Given the description of an element on the screen output the (x, y) to click on. 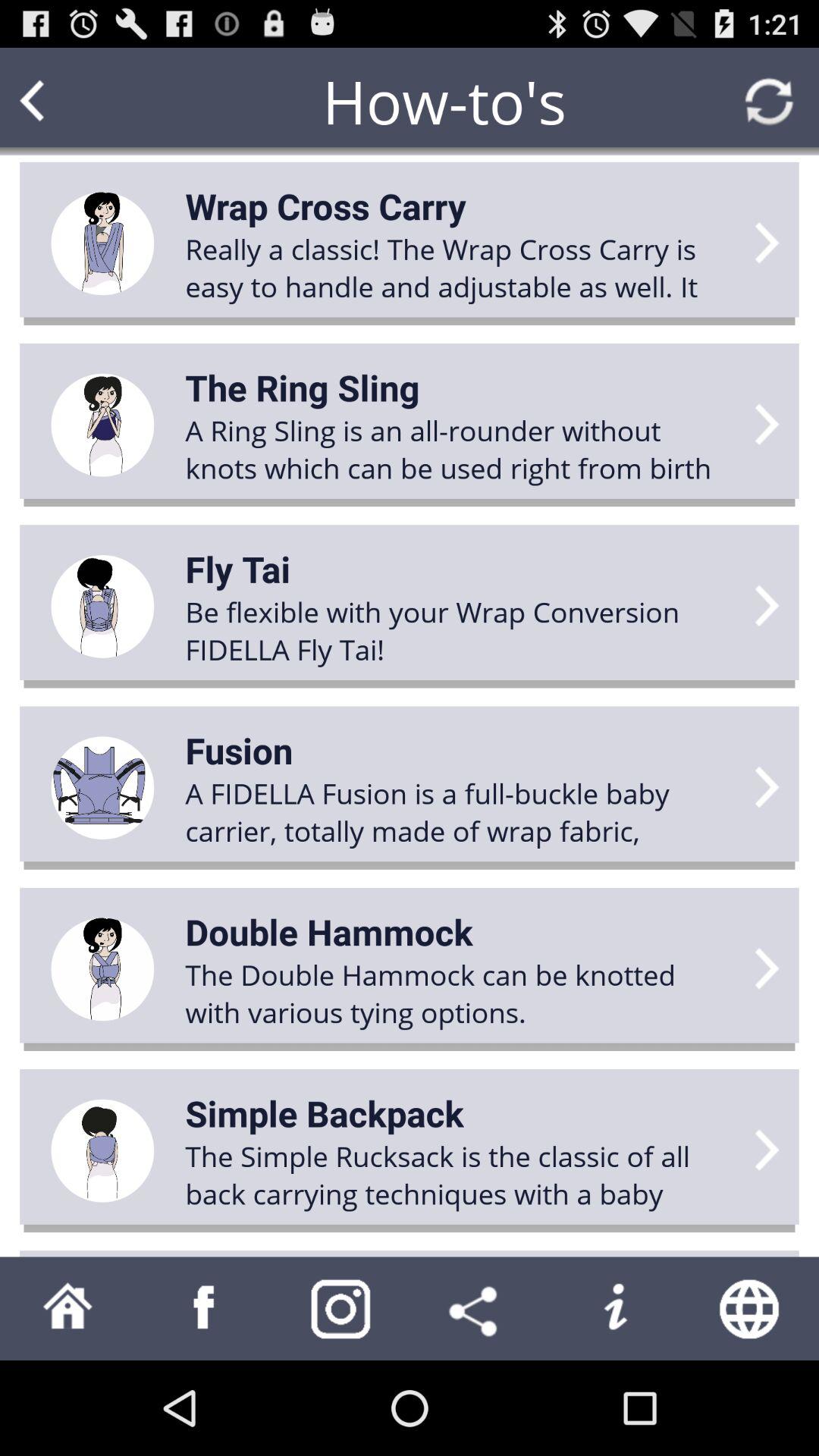
go back page (61, 101)
